Given the description of an element on the screen output the (x, y) to click on. 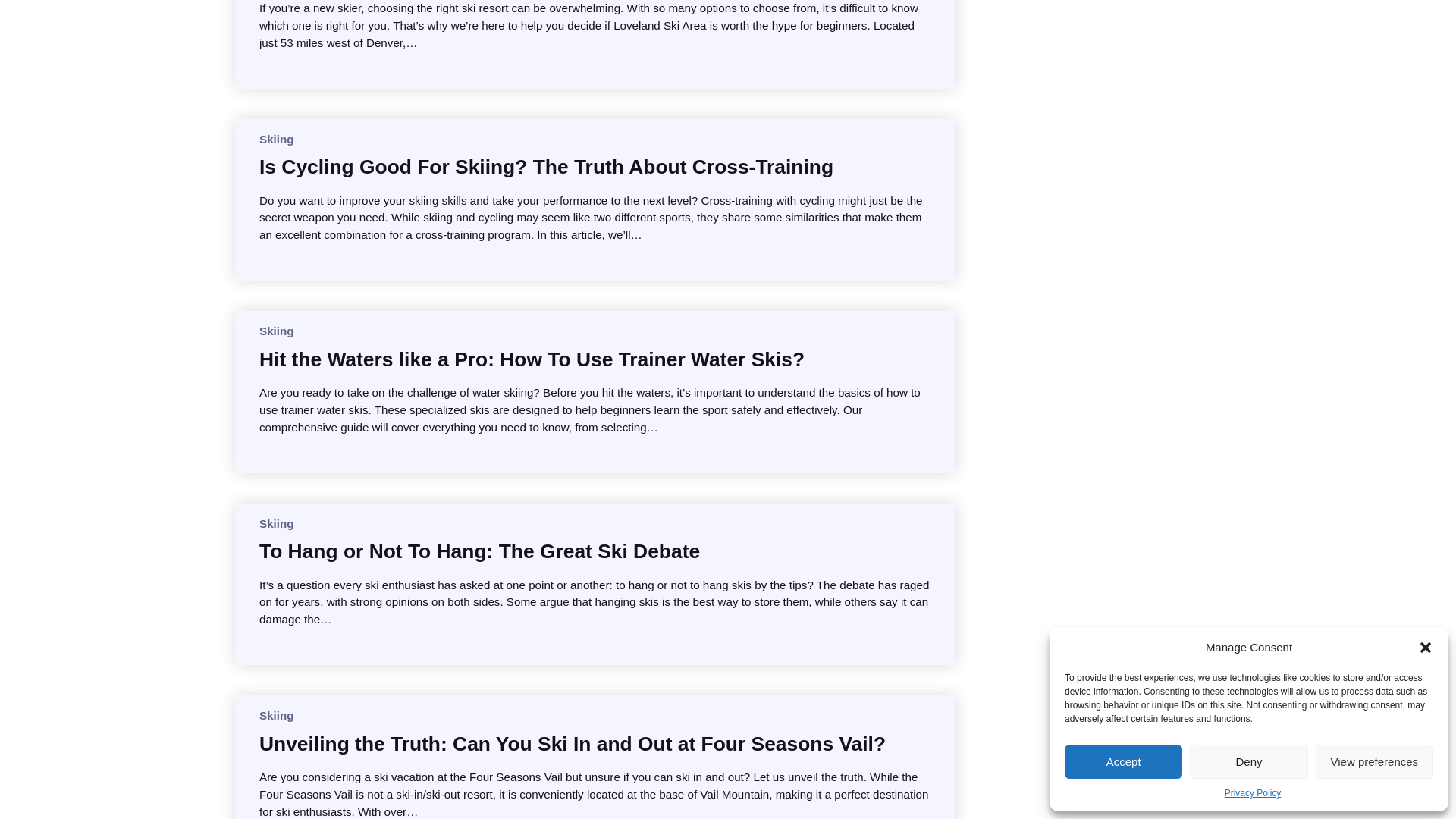
To Hang or Not To Hang: The Great Ski Debate (479, 551)
Skiing (276, 330)
Skiing (276, 715)
Is Cycling Good For Skiing? The Truth About Cross-Training (545, 166)
Skiing (276, 138)
Hit the Waters like a Pro: How To Use Trainer Water Skis? (532, 359)
Skiing (276, 522)
